Given the description of an element on the screen output the (x, y) to click on. 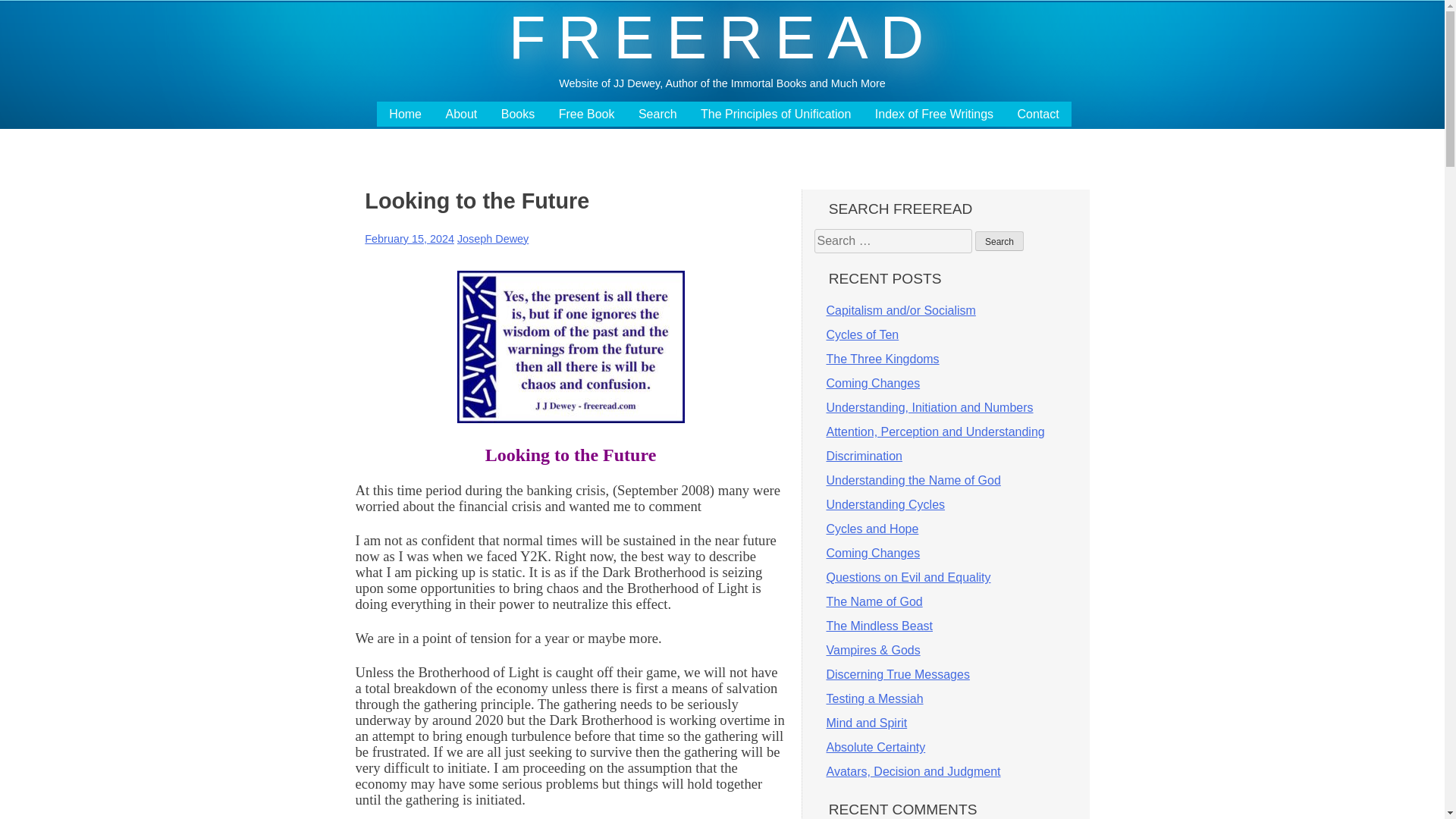
Attention, Perception and Understanding (936, 431)
Joseph Dewey (492, 238)
FREEREAD (722, 37)
Understanding, Initiation and Numbers (930, 407)
Index of Free Writings (933, 114)
The Principles of Unification (775, 114)
Home (405, 114)
Search (999, 240)
Search (999, 240)
Search (999, 240)
Contact (1038, 114)
Books (517, 114)
Discrimination (864, 455)
Cycles and Hope (872, 528)
Understanding Cycles (885, 504)
